Given the description of an element on the screen output the (x, y) to click on. 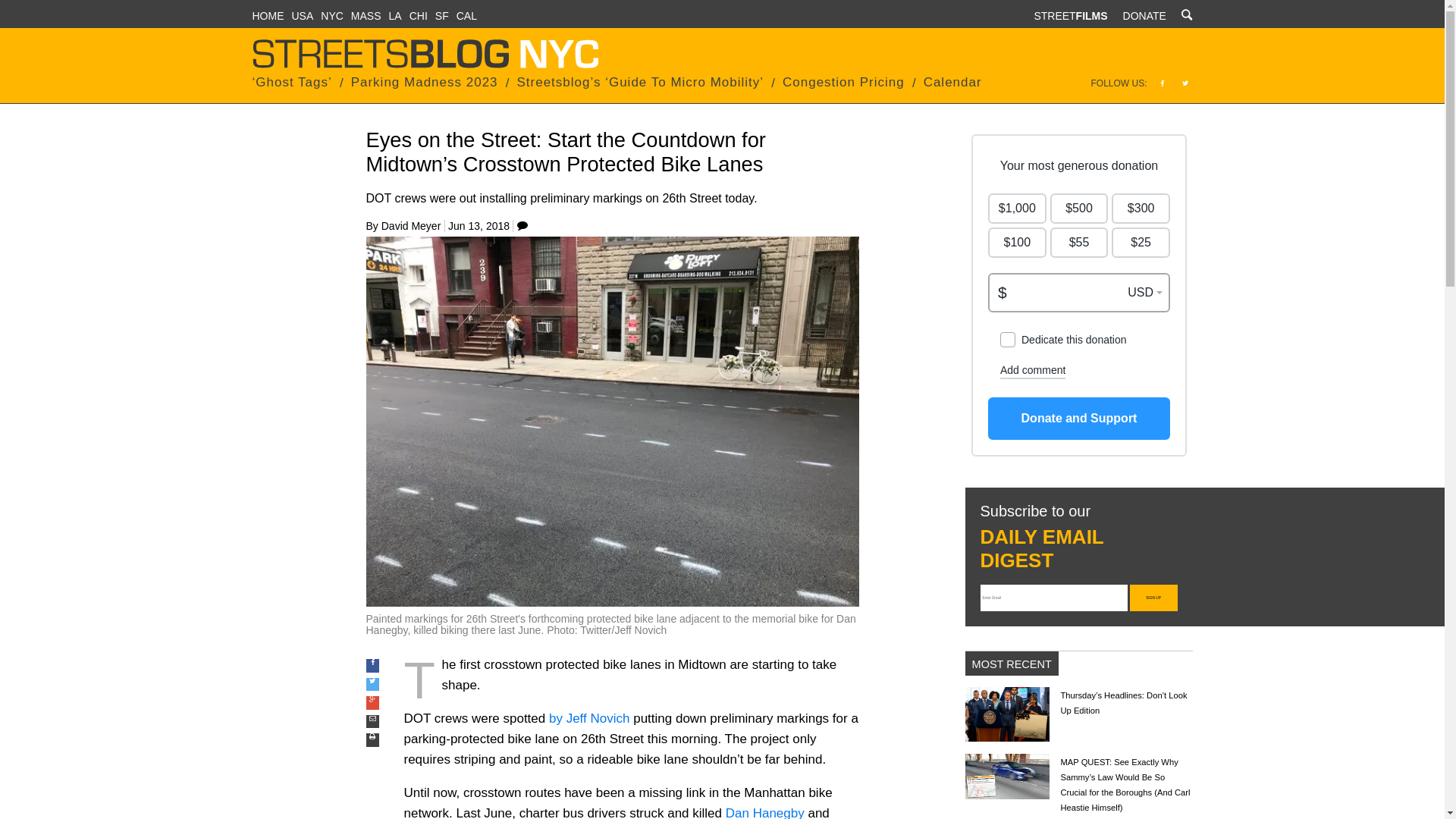
SF (441, 15)
Parking Madness 2023 (423, 82)
David Meyer (411, 225)
USA (302, 15)
Jun 13, 2018 (478, 225)
Congestion Pricing (843, 82)
Calendar (952, 82)
LA (394, 15)
DONATE (1144, 15)
CHI (418, 15)
NYC (331, 15)
CAL (467, 15)
HOME (267, 15)
MASS (365, 15)
STREETFILMS (1069, 15)
